Given the description of an element on the screen output the (x, y) to click on. 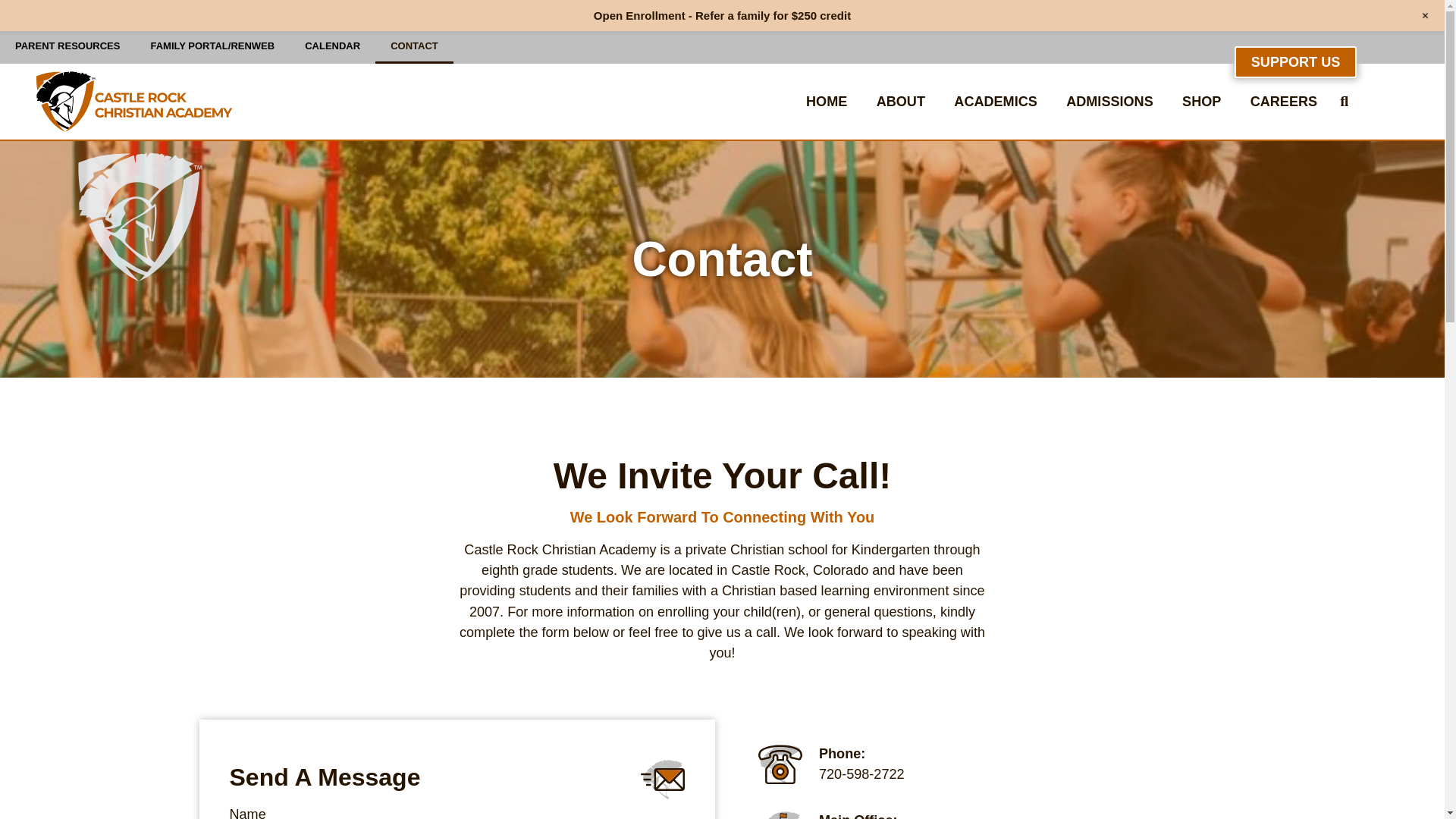
CONTACT (413, 45)
CALENDAR (332, 45)
HOME (826, 101)
CAREERS (1284, 101)
ACADEMICS (995, 101)
ADMISSIONS (1109, 101)
SUPPORT US (1295, 61)
ABOUT (900, 101)
PARENT RESOURCES (67, 45)
SHOP (1201, 101)
